Given the description of an element on the screen output the (x, y) to click on. 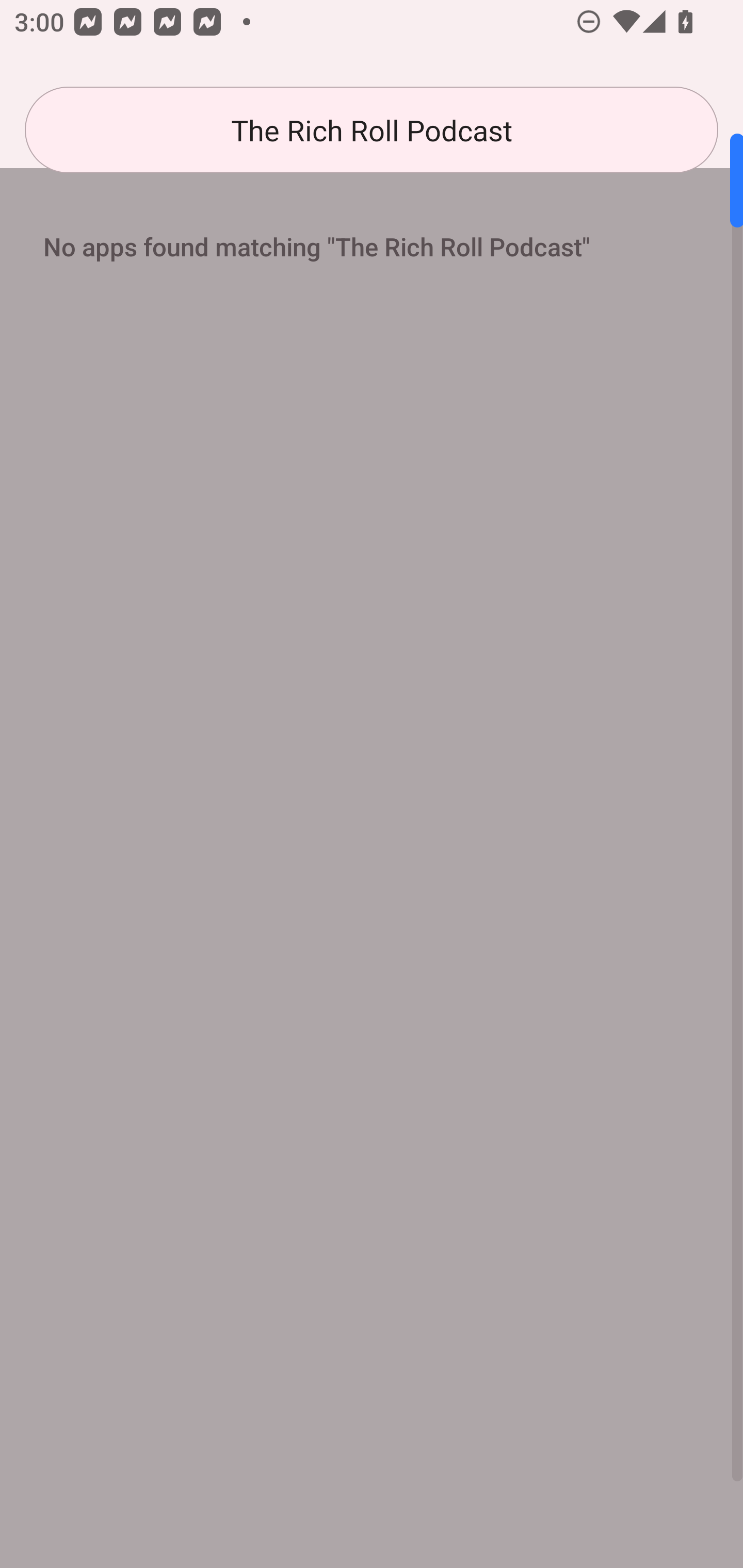
The Rich Roll Podcast (371, 130)
